Given the description of an element on the screen output the (x, y) to click on. 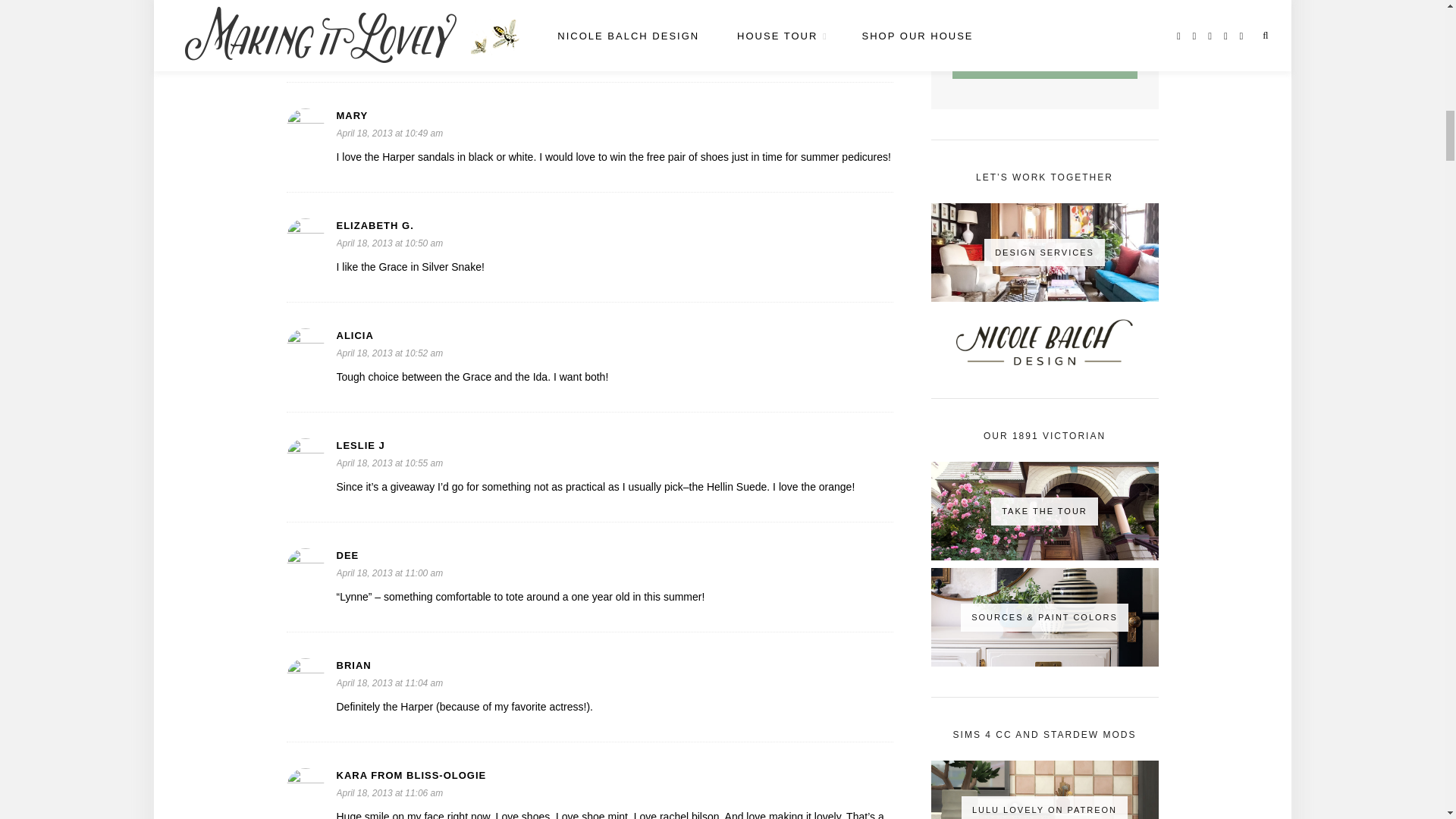
DEE (614, 555)
Subscribe (1044, 63)
